Given the description of an element on the screen output the (x, y) to click on. 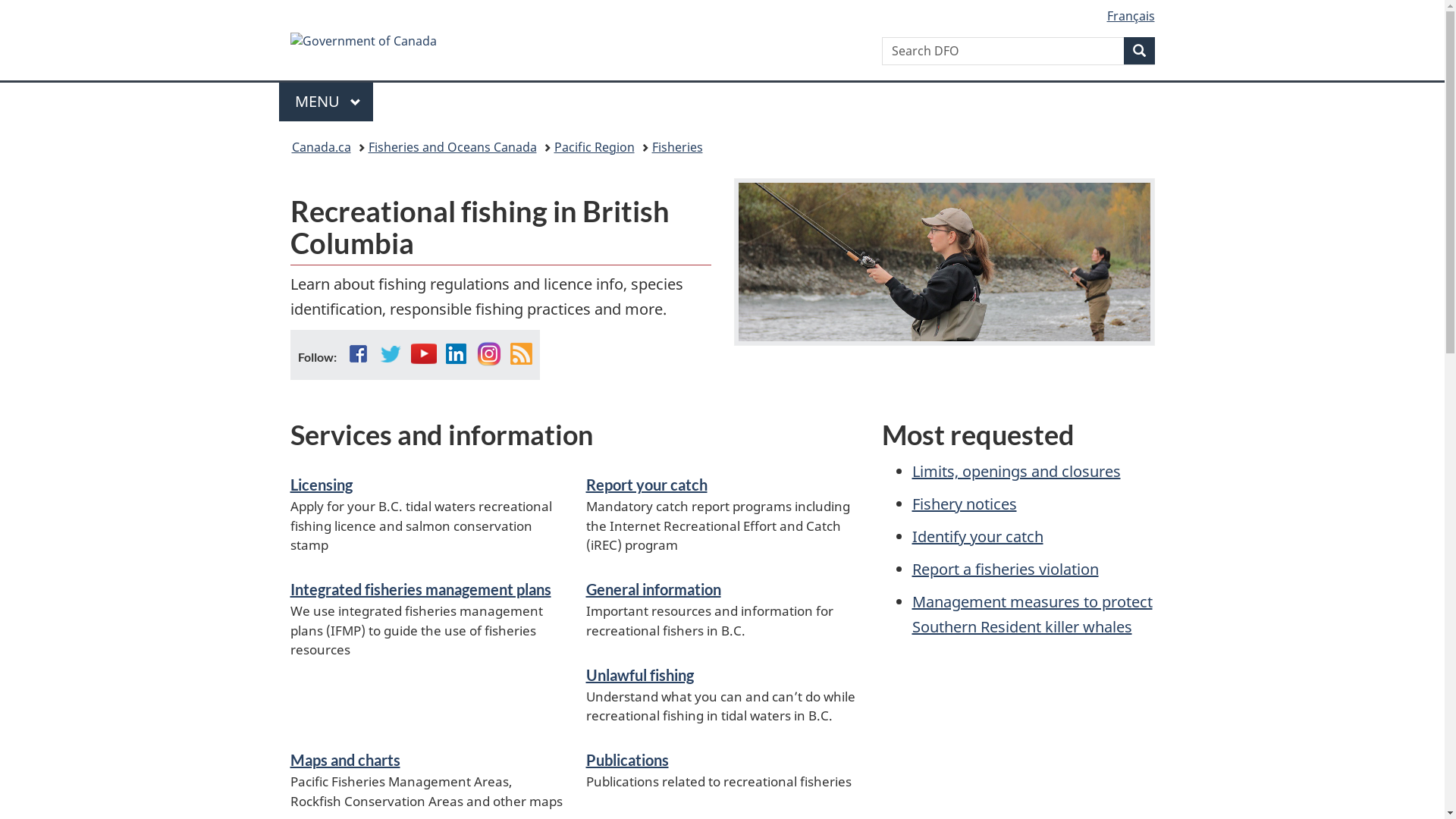
General information Element type: text (652, 589)
LinkedIn Element type: text (455, 353)
Instagram Element type: text (488, 353)
Report a fisheries violation Element type: text (1004, 568)
Identify your catch Element type: text (976, 536)
Twitter Element type: text (390, 353)
Fisheries and Oceans Canada Element type: text (452, 146)
/ Element type: text (425, 43)
Search Element type: text (1138, 50)
Report your catch Element type: text (645, 484)
Publications Element type: text (626, 759)
RSS feeds Element type: text (520, 353)
Unlawful fishing Element type: text (639, 674)
Skip to main content Element type: text (725, 11)
Fishery notices Element type: text (963, 503)
Licensing Element type: text (320, 484)
Canada.ca Element type: text (320, 146)
Fisheries Element type: text (677, 146)
Integrated fisheries management plans Element type: text (419, 589)
MAIN
MENU Element type: text (326, 101)
YouTube Element type: text (423, 353)
Limits, openings and closures Element type: text (1015, 471)
Facebook Element type: text (358, 353)
Pacific Region Element type: text (593, 146)
Maps and charts Element type: text (344, 759)
